Given the description of an element on the screen output the (x, y) to click on. 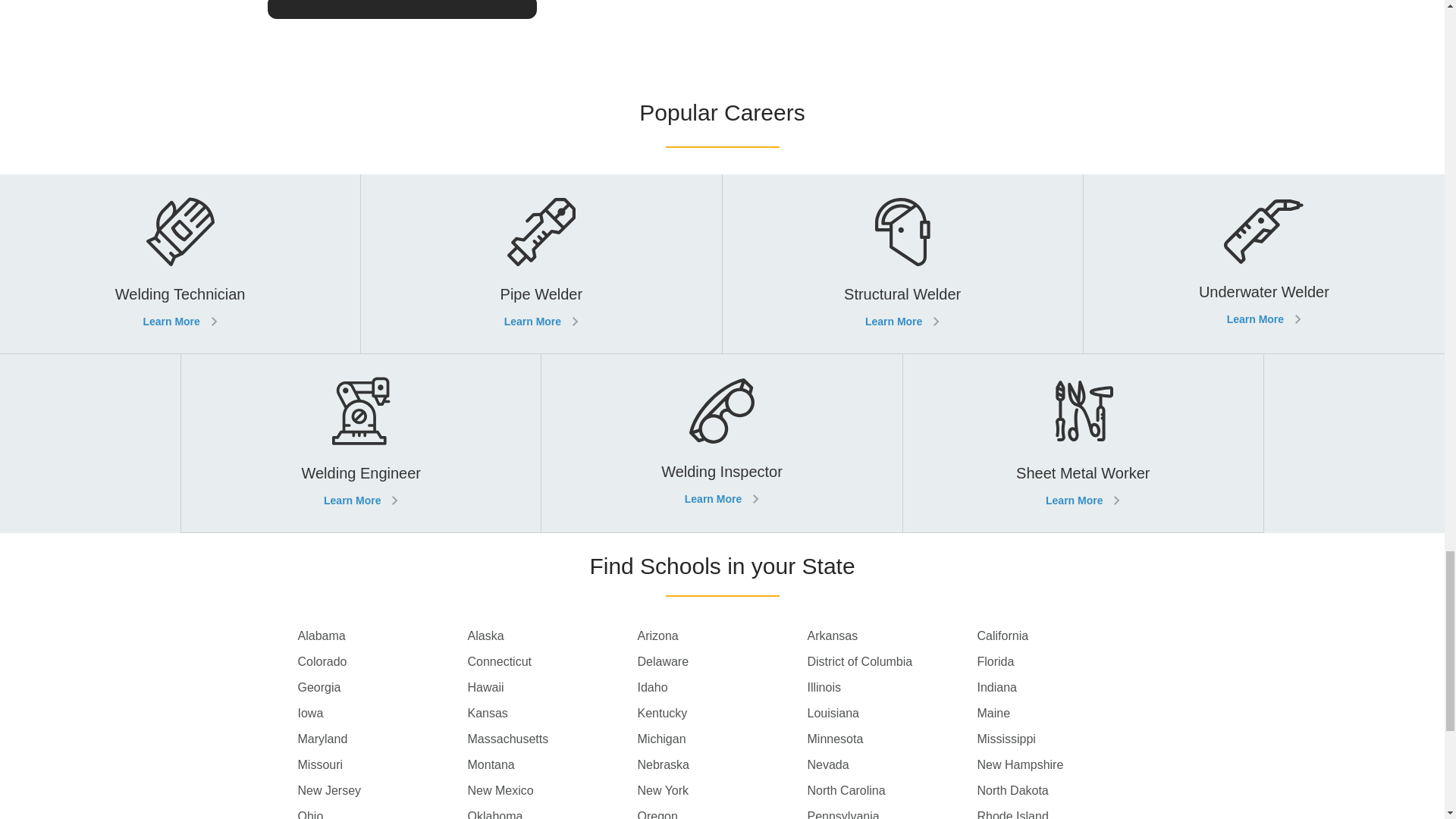
Alabama (382, 636)
Arizona (721, 636)
Arkansas (891, 636)
California (1061, 636)
Alaska (552, 636)
